Given the description of an element on the screen output the (x, y) to click on. 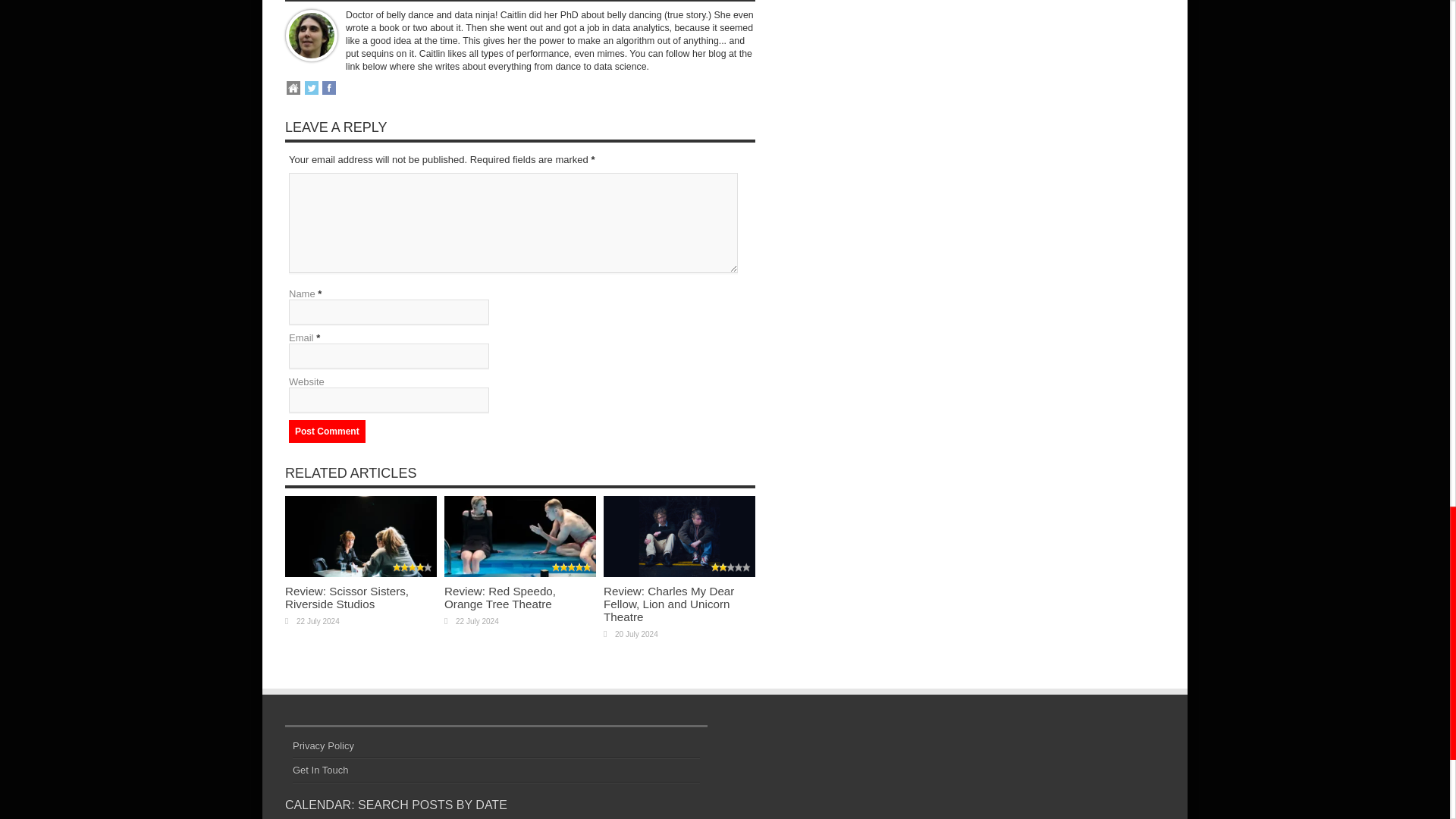
Permalink to Review: Scissor Sisters, Riverside Studios (347, 597)
Excellent (412, 567)
Permalink to Review: Scissor Sisters, Riverside Studios (360, 573)
Post Comment (326, 431)
